Given the description of an element on the screen output the (x, y) to click on. 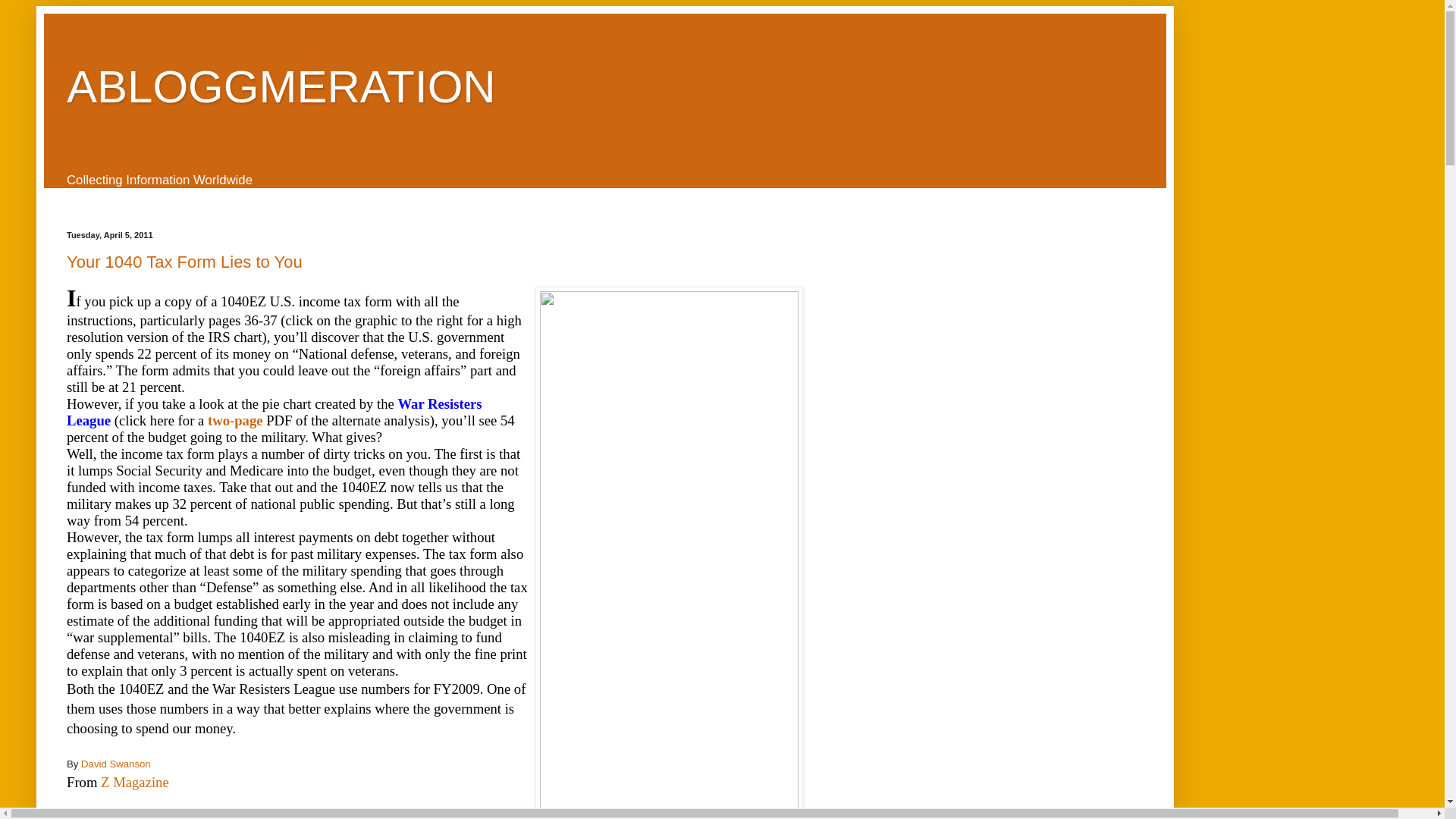
War Resisters League (273, 411)
two-page (235, 420)
Your 1040 Tax Form Lies to You (184, 261)
ABLOGGMERATION (281, 86)
David Swanson (116, 763)
Z Magazine (134, 781)
